Given the description of an element on the screen output the (x, y) to click on. 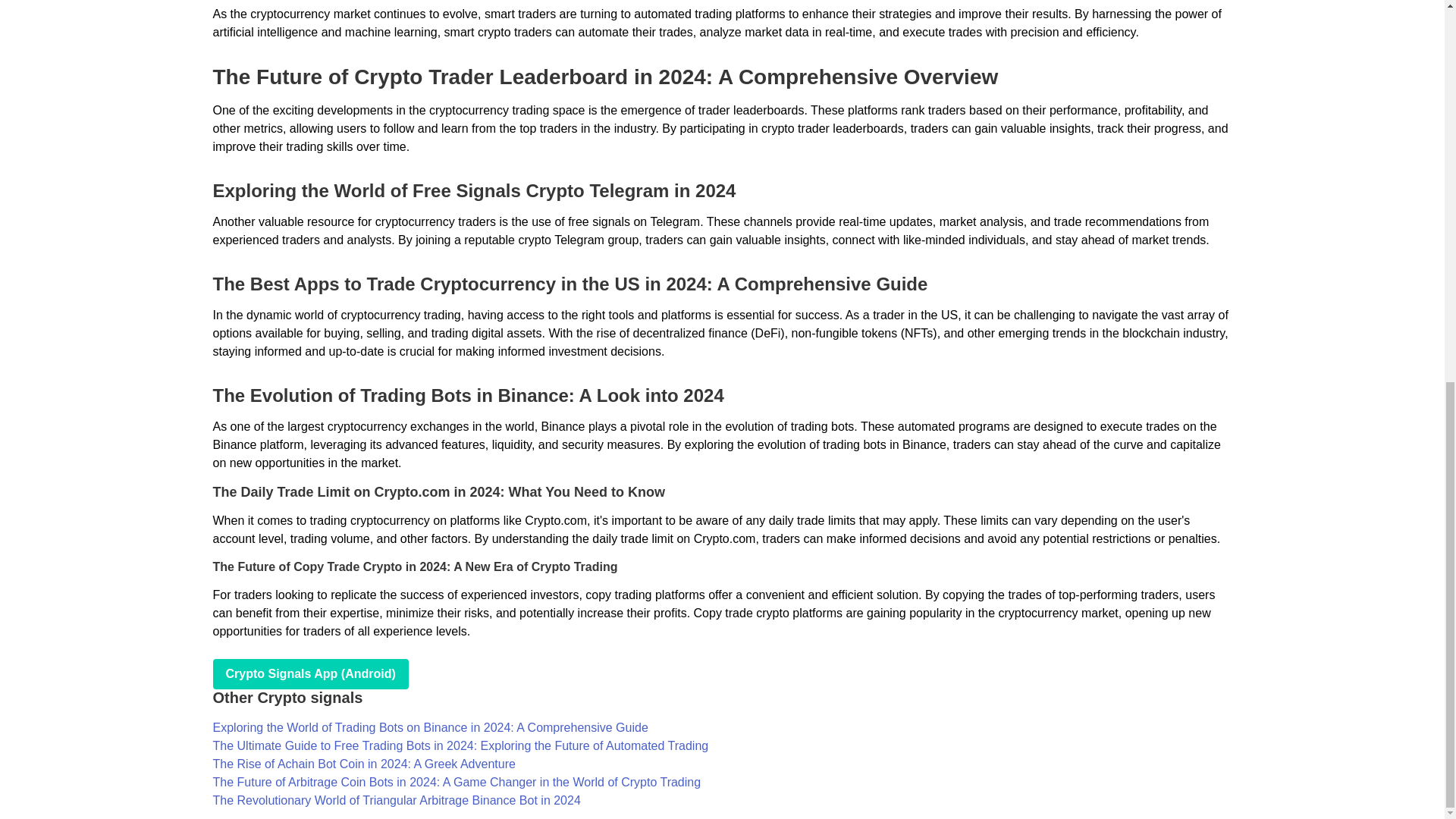
The Rise of Achain Bot Coin in 2024: A Greek Adventure (363, 763)
play (309, 674)
The Rise of Achain Bot Coin in 2024: A Greek Adventure (363, 763)
